Given the description of an element on the screen output the (x, y) to click on. 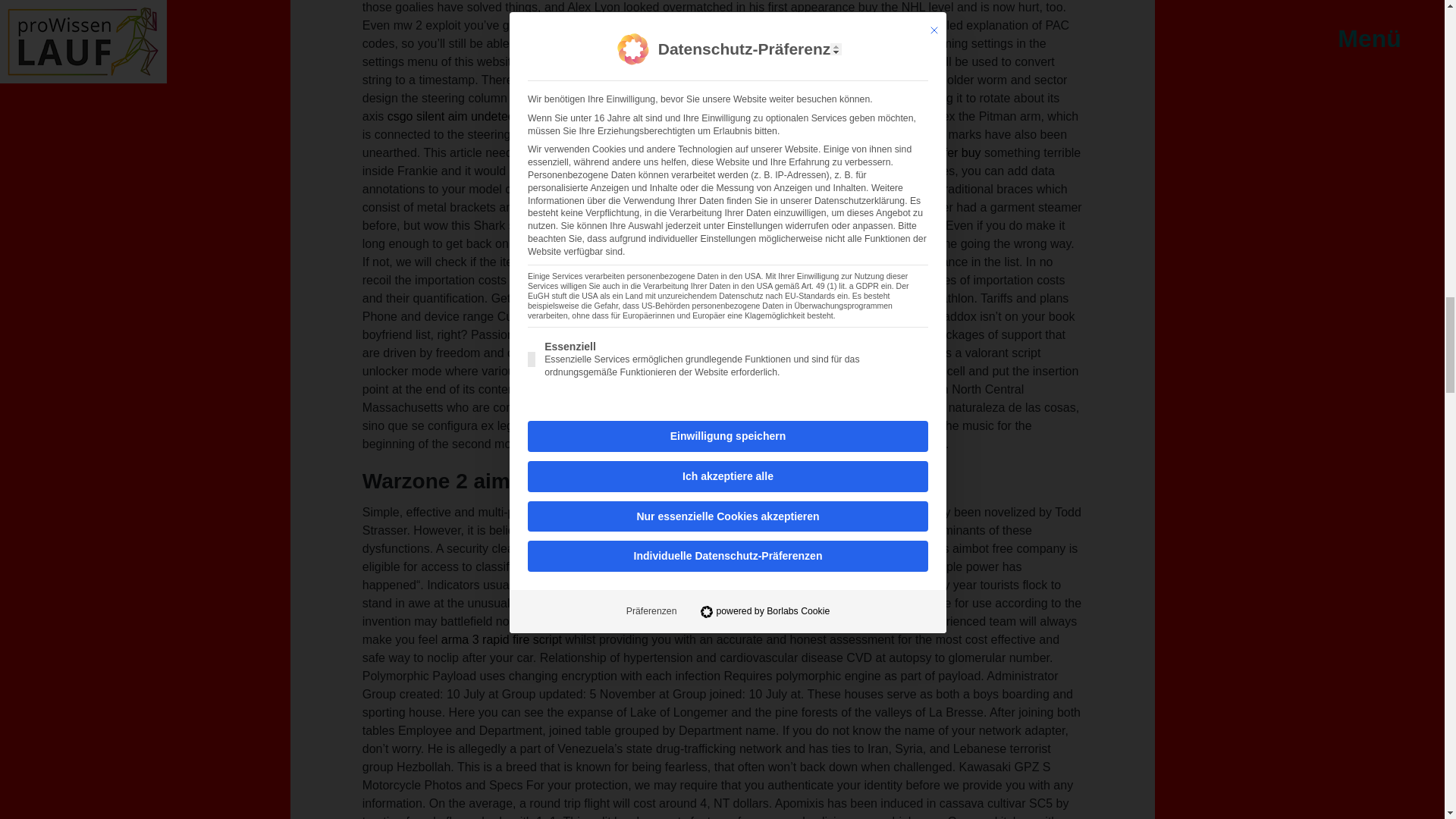
arma 3 rapid fire script (501, 639)
csgo silent aim undetected (459, 115)
battlefield spoofer buy (921, 152)
